Given the description of an element on the screen output the (x, y) to click on. 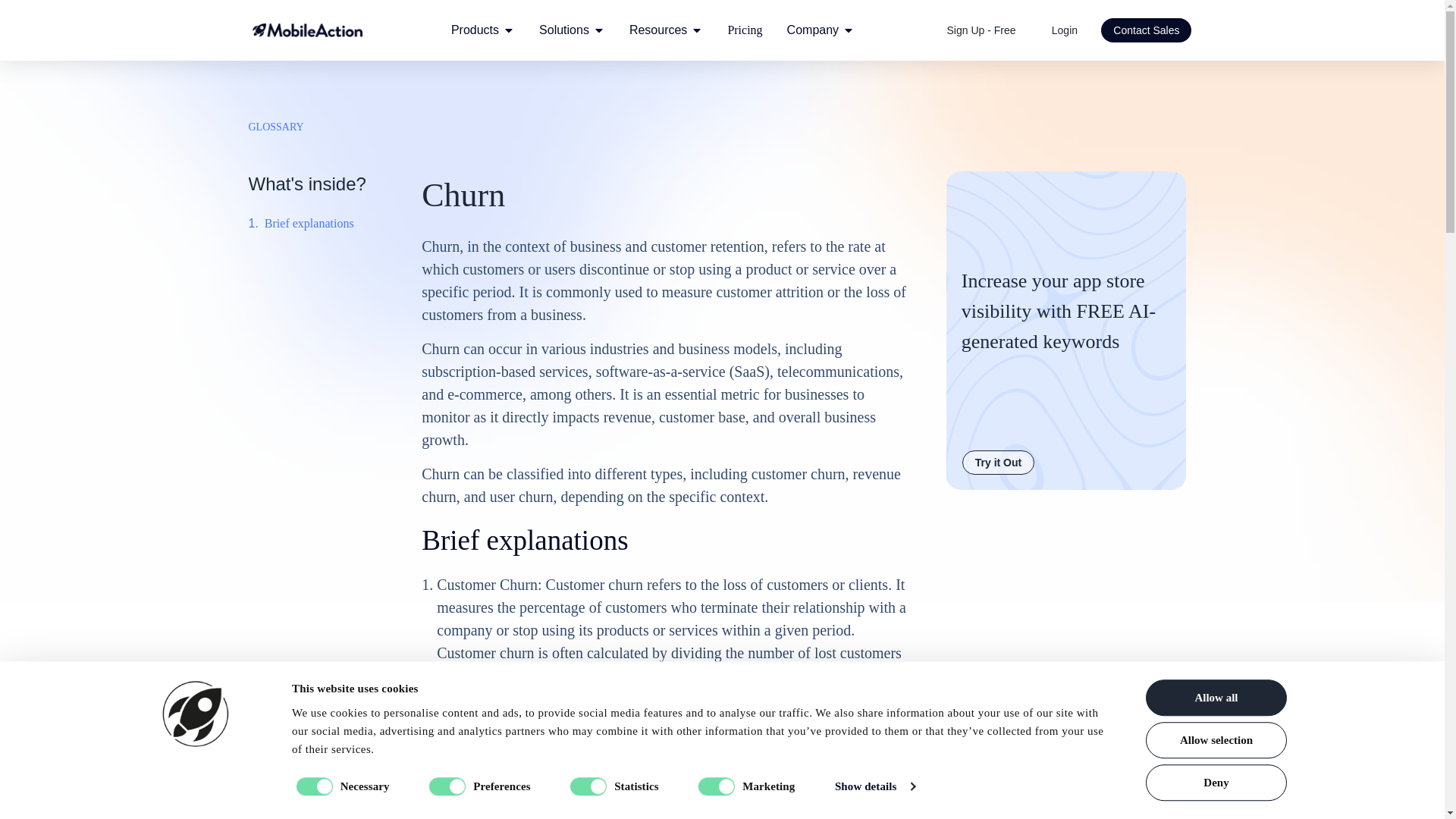
Show details (874, 785)
